Given the description of an element on the screen output the (x, y) to click on. 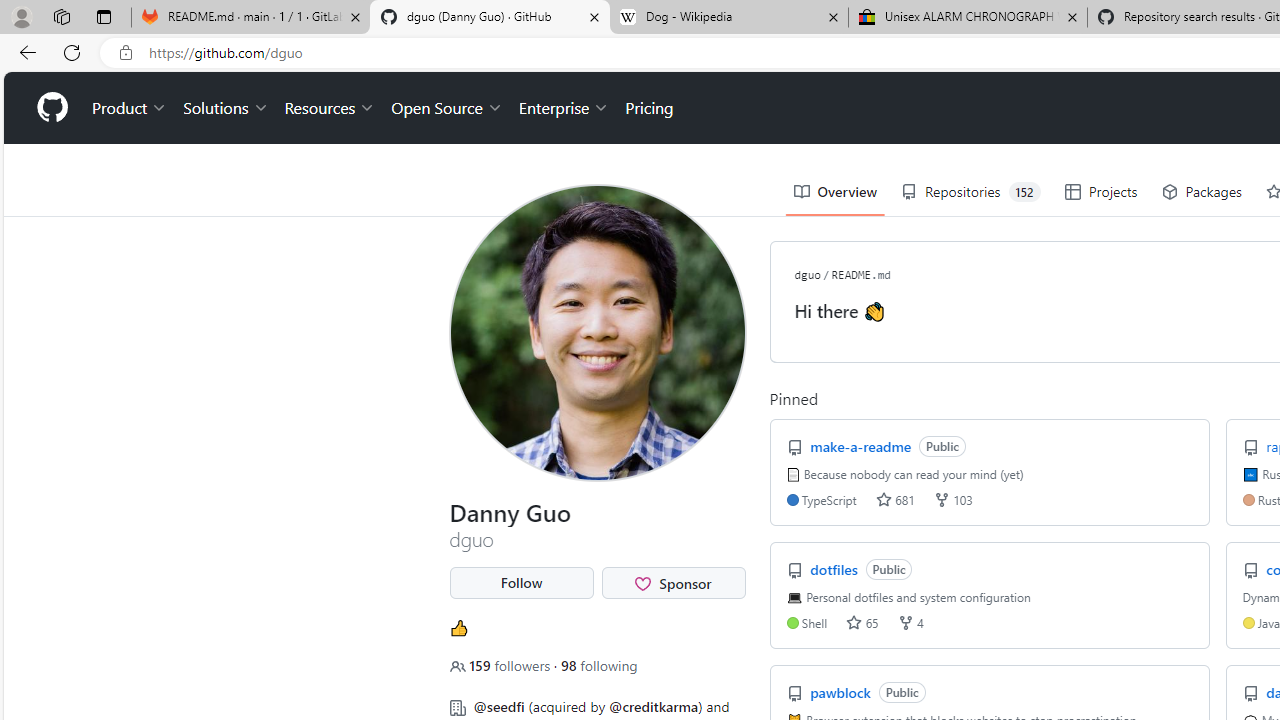
Overview (834, 192)
Solutions (225, 107)
Enterprise (563, 107)
Resources (330, 107)
